Given the description of an element on the screen output the (x, y) to click on. 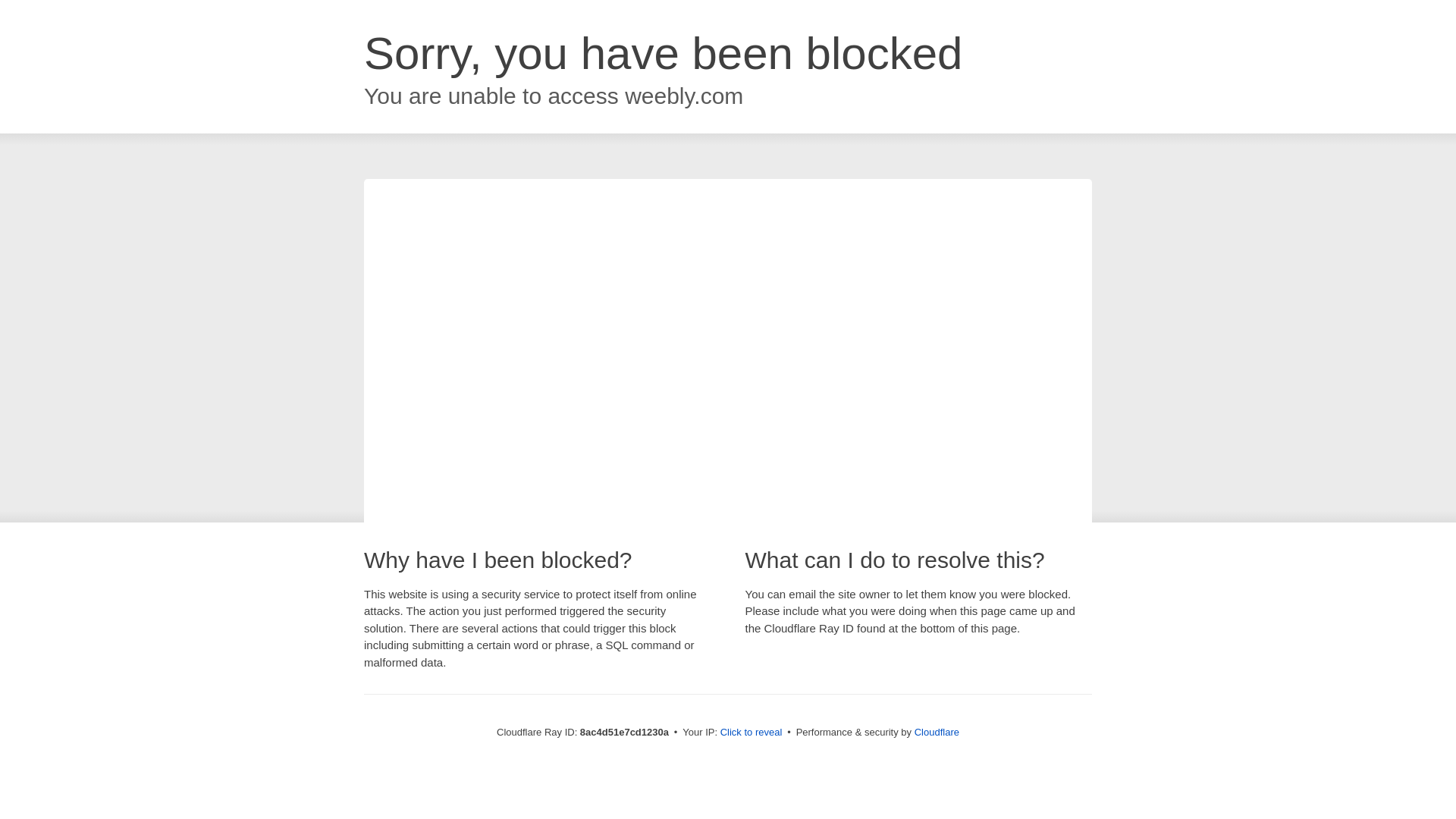
Cloudflare (936, 731)
Click to reveal (751, 732)
